Given the description of an element on the screen output the (x, y) to click on. 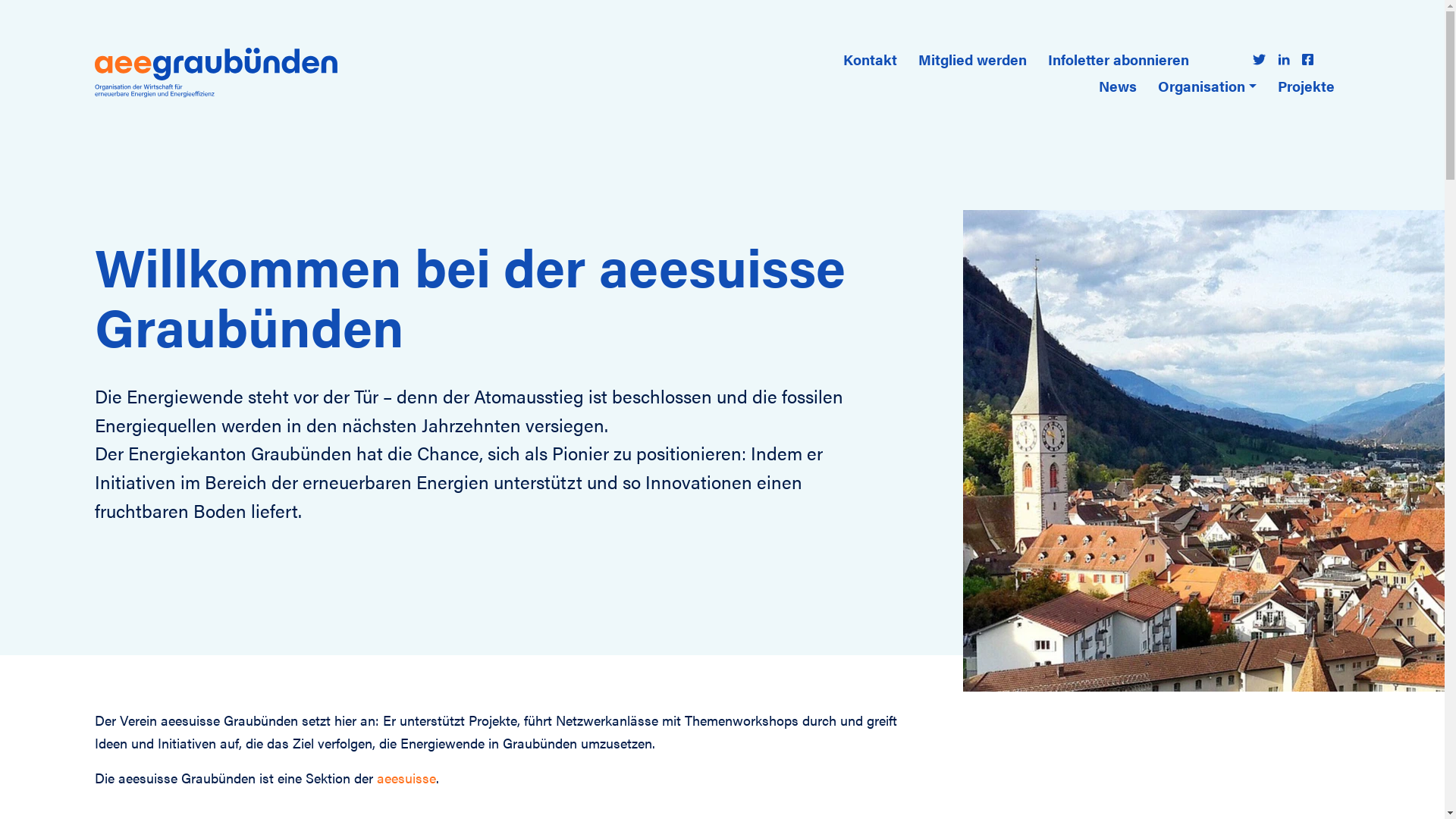
logo-twitter Element type: text (1258, 59)
Kontakt Element type: text (870, 59)
aeesuisse Element type: text (406, 777)
Organisation Element type: text (1206, 85)
Mitglied werden Element type: text (972, 59)
News Element type: text (1117, 85)
Infoletter abonnieren Element type: text (1118, 59)
Projekte Element type: text (1305, 85)
